Given the description of an element on the screen output the (x, y) to click on. 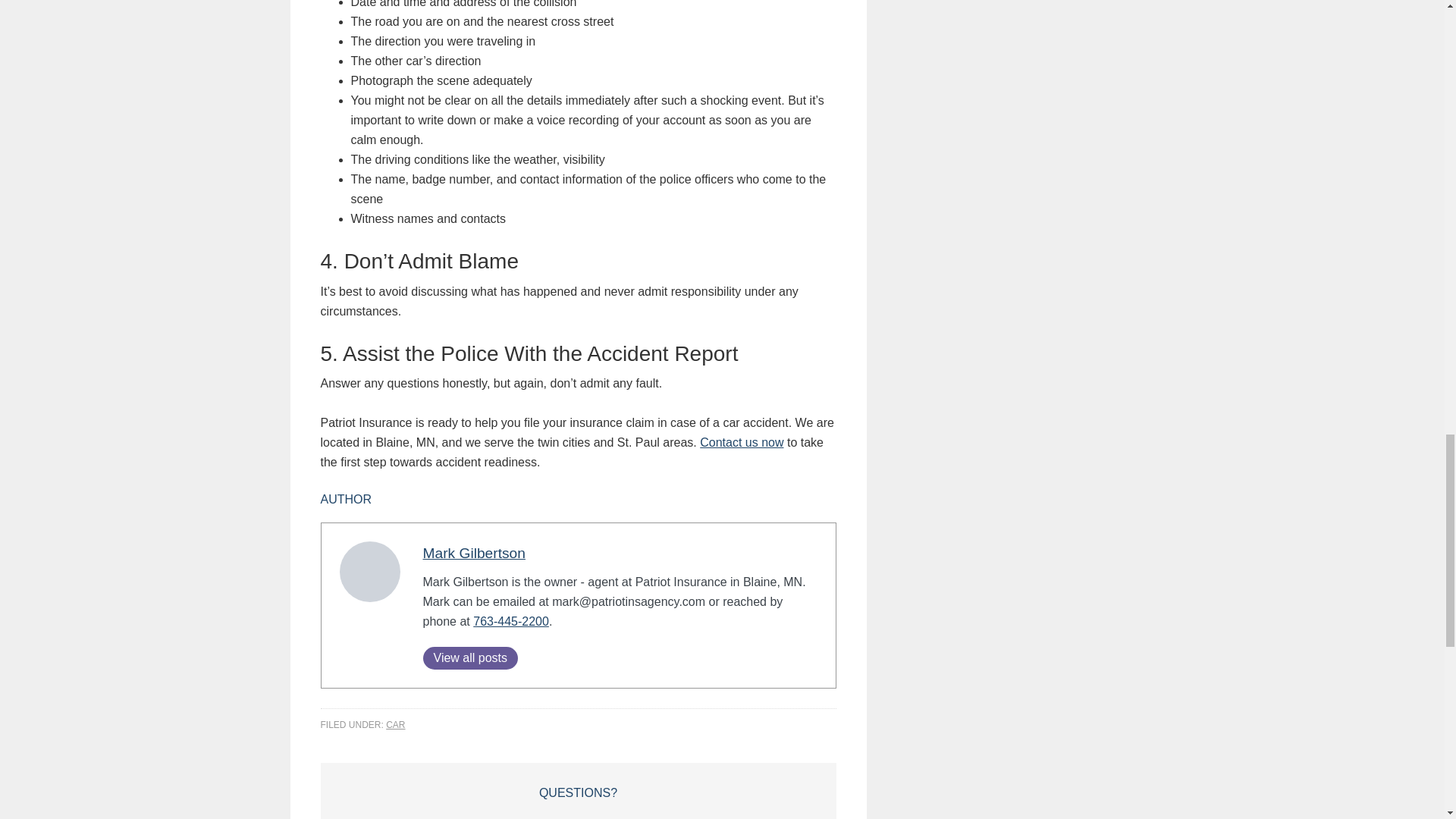
View all posts (470, 658)
763-445-2200 (510, 621)
Mark Gilbertson (474, 552)
View all posts (470, 658)
Mark Gilbertson (474, 552)
Contact us now (741, 441)
CAR (394, 724)
